Given the description of an element on the screen output the (x, y) to click on. 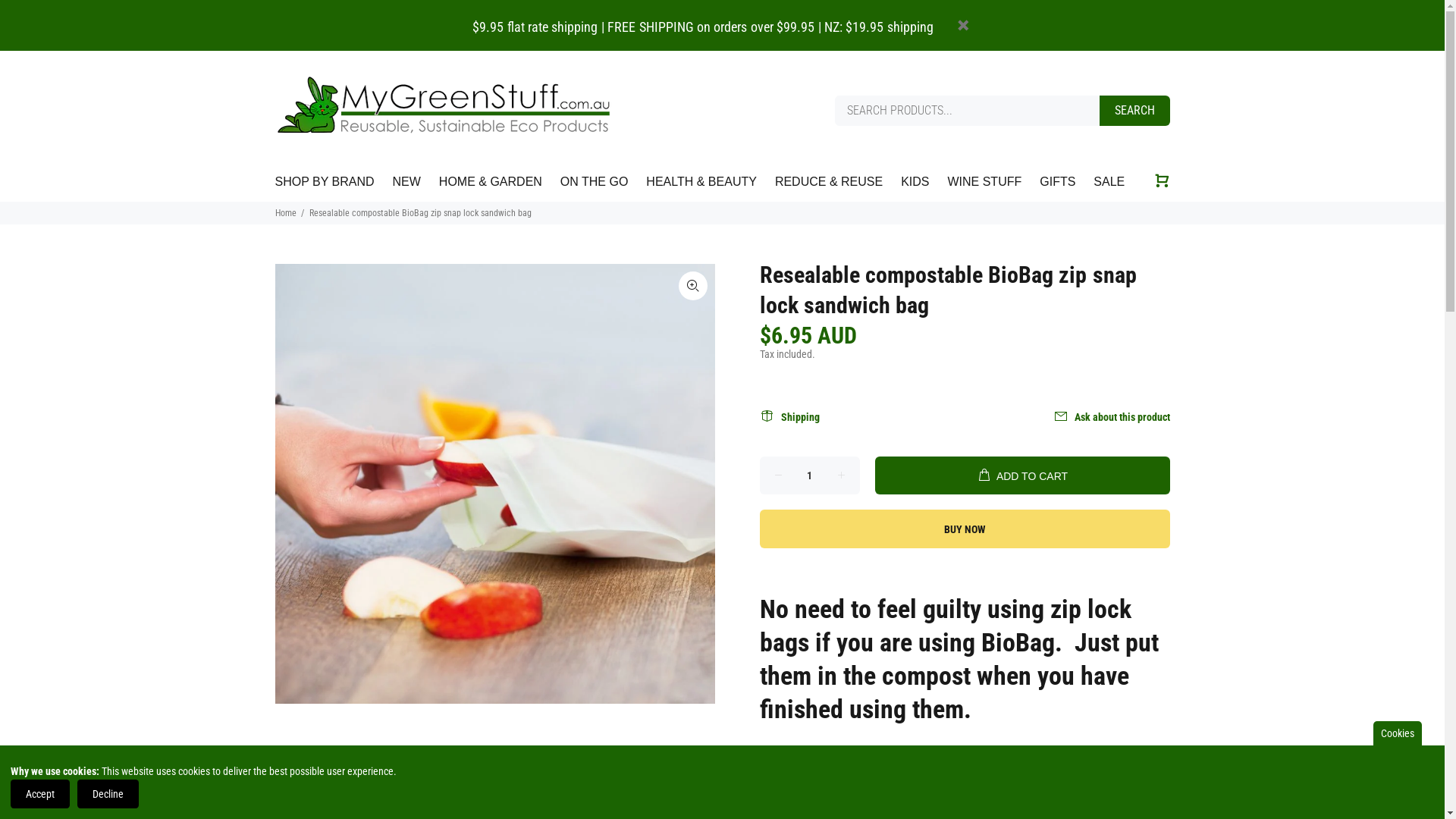
SALE Element type: text (1104, 182)
ADD TO CART Element type: text (1022, 475)
Home Element type: text (284, 212)
ON THE GO Element type: text (594, 182)
Cookies Element type: text (1397, 733)
KIDS Element type: text (914, 182)
SEARCH Element type: text (1134, 110)
Accept Element type: text (39, 793)
Decline Element type: text (107, 793)
WINE STUFF Element type: text (984, 182)
BUY NOW Element type: text (964, 528)
Shipping Element type: text (793, 416)
REDUCE & REUSE Element type: text (828, 182)
HOME & GARDEN Element type: text (490, 182)
GIFTS Element type: text (1057, 182)
HEALTH & BEAUTY Element type: text (701, 182)
Ask about this product Element type: text (1106, 416)
SHOP BY BRAND Element type: text (328, 182)
NEW Element type: text (406, 182)
